Given the description of an element on the screen output the (x, y) to click on. 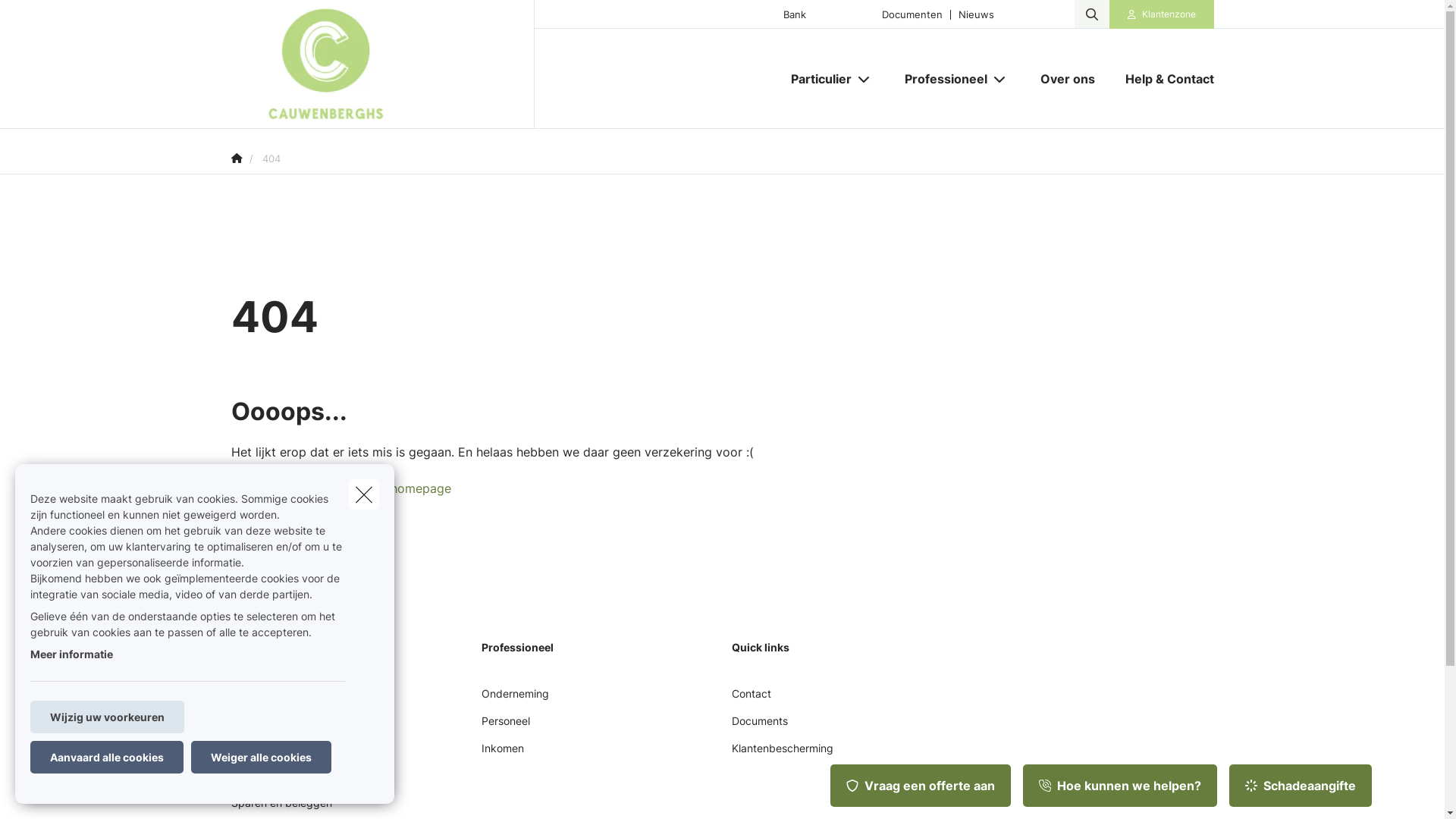
Onderneming Element type: text (514, 698)
Personeel Element type: text (504, 726)
Documenten Element type: text (912, 13)
Mobiliteit Element type: text (252, 698)
homepage Element type: text (419, 487)
Documents Element type: text (759, 726)
Hoe kunnen we helpen? Element type: text (1119, 785)
Aanvaard alle cookies Element type: text (106, 756)
Gezin en rechtsbijstand Element type: text (288, 753)
Contact Element type: text (750, 698)
Woning Element type: text (248, 726)
Klantenzone Element type: text (1161, 14)
Over ons Element type: text (1067, 78)
Hospitalisatie Element type: text (263, 780)
Wijzig uw voorkeuren Element type: text (107, 716)
Professioneel Element type: text (939, 78)
Klantenbescherming Element type: text (781, 753)
Vraag een offerte aan Element type: text (920, 785)
Bank Element type: text (794, 13)
Nieuws Element type: text (975, 13)
Help & Contact Element type: text (1162, 78)
Meer informatie Element type: text (71, 653)
Zoeken Element type: text (42, 18)
Inkomen Element type: text (501, 753)
Schadeaangifte Element type: text (1300, 785)
Particulier Element type: text (814, 78)
Weiger alle cookies Element type: text (261, 756)
